Given the description of an element on the screen output the (x, y) to click on. 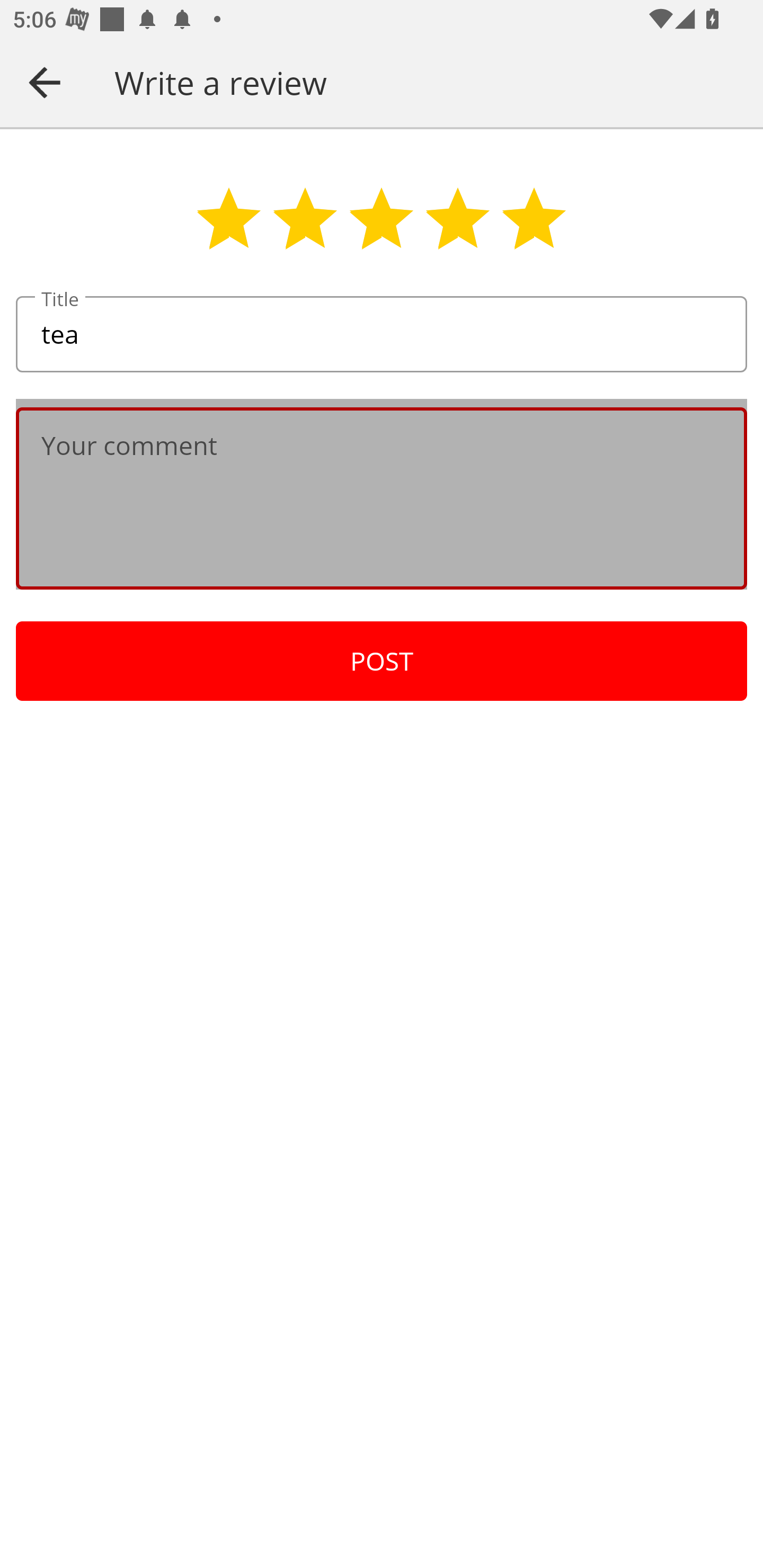
Navigate up (44, 82)
tea (381, 334)
Your comment (381, 498)
POST (381, 660)
